Given the description of an element on the screen output the (x, y) to click on. 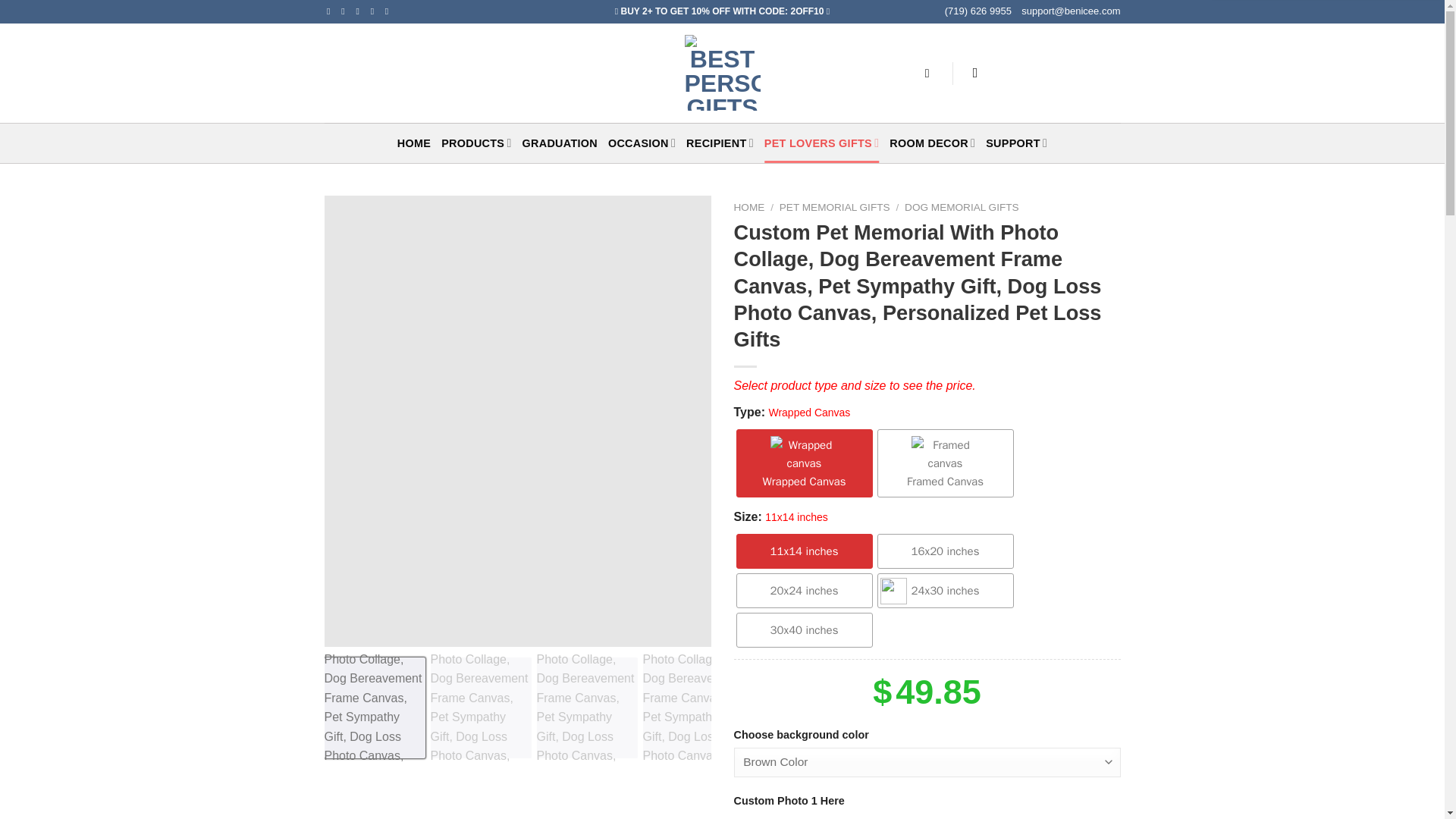
16x20 inches (944, 550)
Wrapped Canvas (803, 463)
20x24 inches (803, 590)
PRODUCTS (476, 142)
11x14 inches (803, 550)
30x40 inches (803, 629)
RECIPIENT (719, 142)
GRADUATION (559, 142)
OCCASION (641, 142)
Framed Canvas (944, 463)
24x30 inches (944, 590)
